Given the description of an element on the screen output the (x, y) to click on. 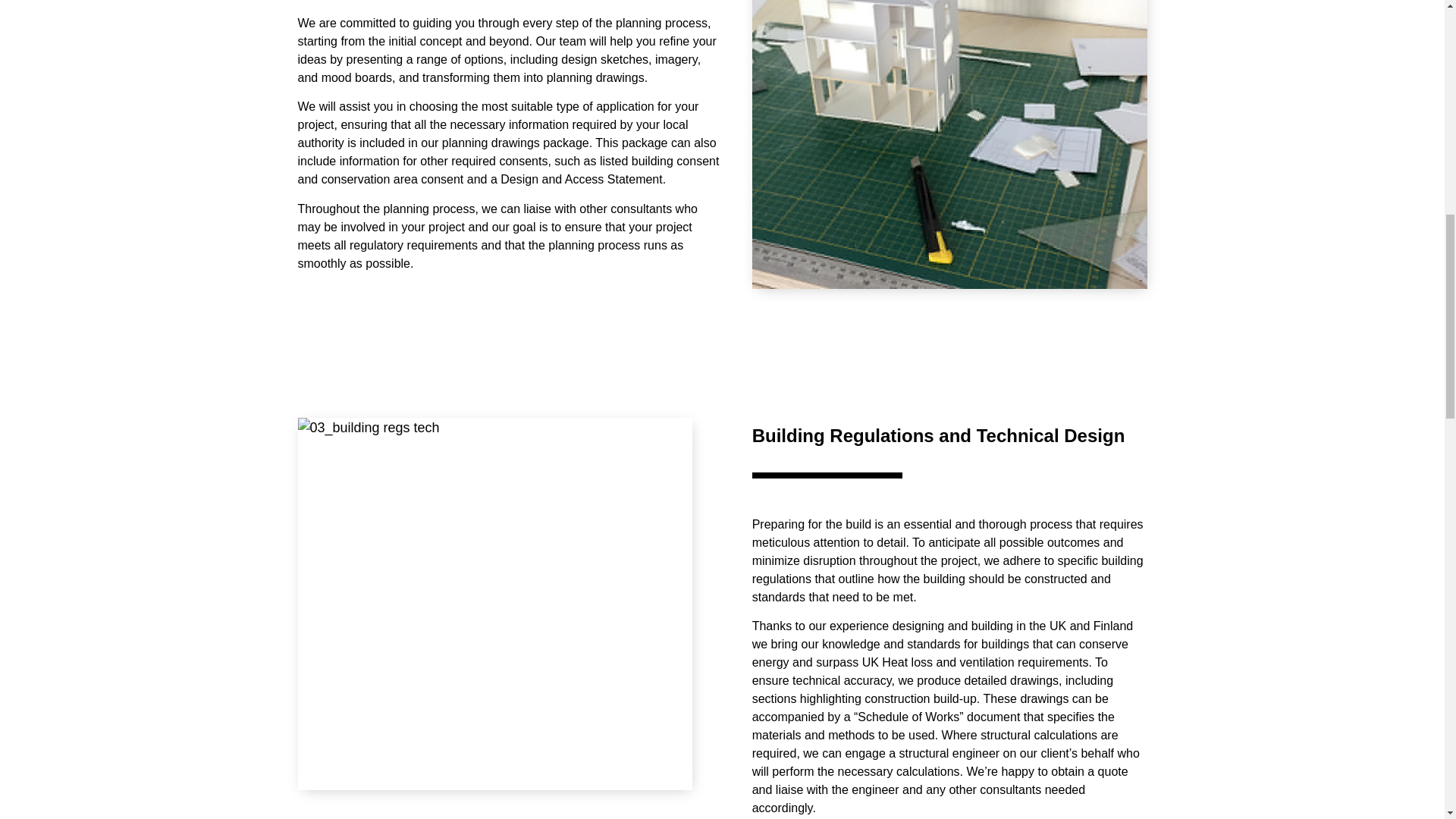
Page 1 (949, 435)
Page 1 (509, 143)
Page 1 (949, 666)
